Given the description of an element on the screen output the (x, y) to click on. 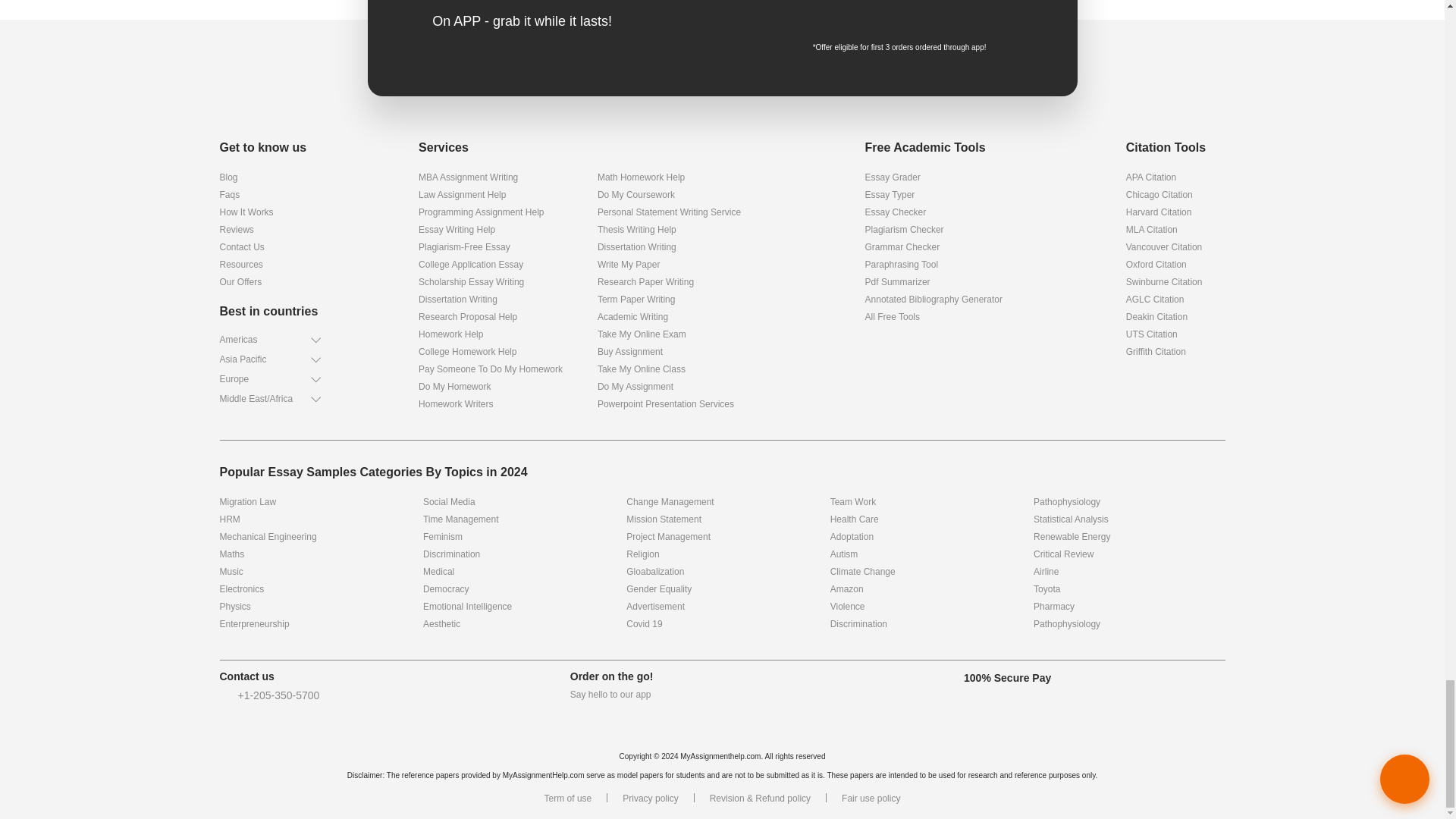
qrcode (973, 16)
google-pay (858, 12)
pataka (721, 81)
footer-ph (224, 696)
